Given the description of an element on the screen output the (x, y) to click on. 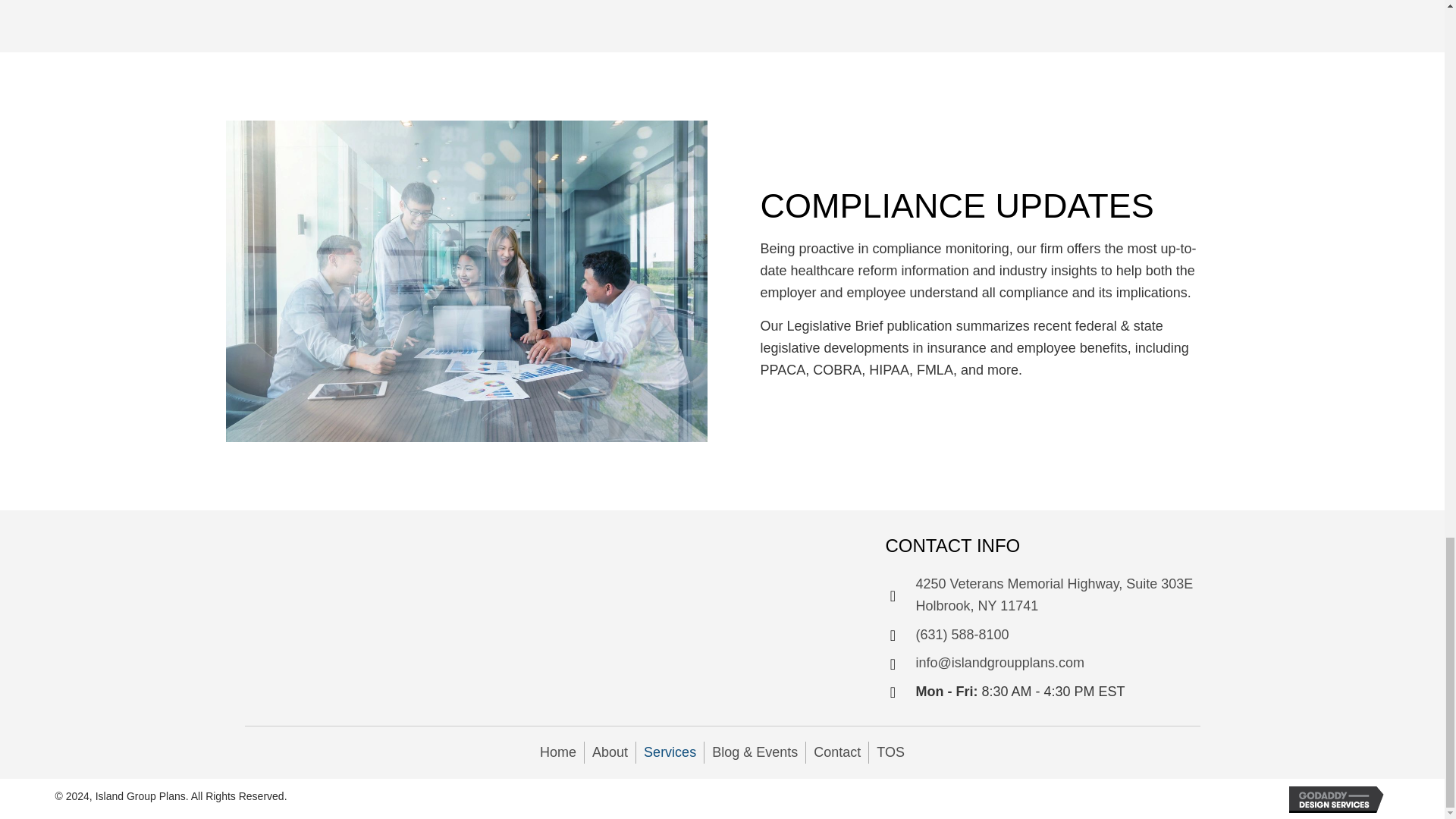
Home (557, 752)
